Given the description of an element on the screen output the (x, y) to click on. 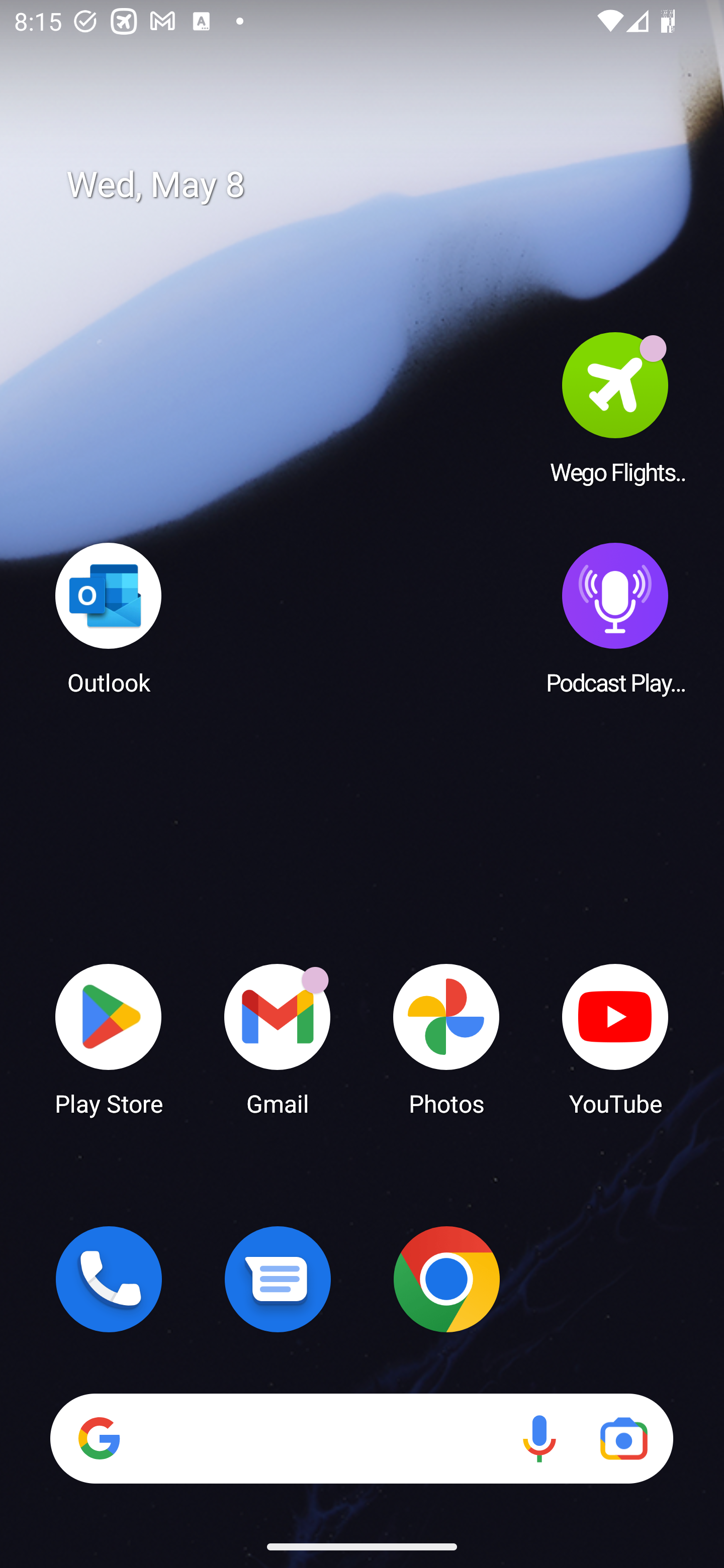
Wed, May 8 (375, 184)
Outlook (108, 617)
Podcast Player (615, 617)
Play Store (108, 1038)
Gmail Gmail has 17 notifications (277, 1038)
Photos (445, 1038)
YouTube (615, 1038)
Phone (108, 1279)
Messages (277, 1279)
Chrome (446, 1279)
Search Voice search Google Lens (361, 1438)
Voice search (539, 1438)
Google Lens (623, 1438)
